Given the description of an element on the screen output the (x, y) to click on. 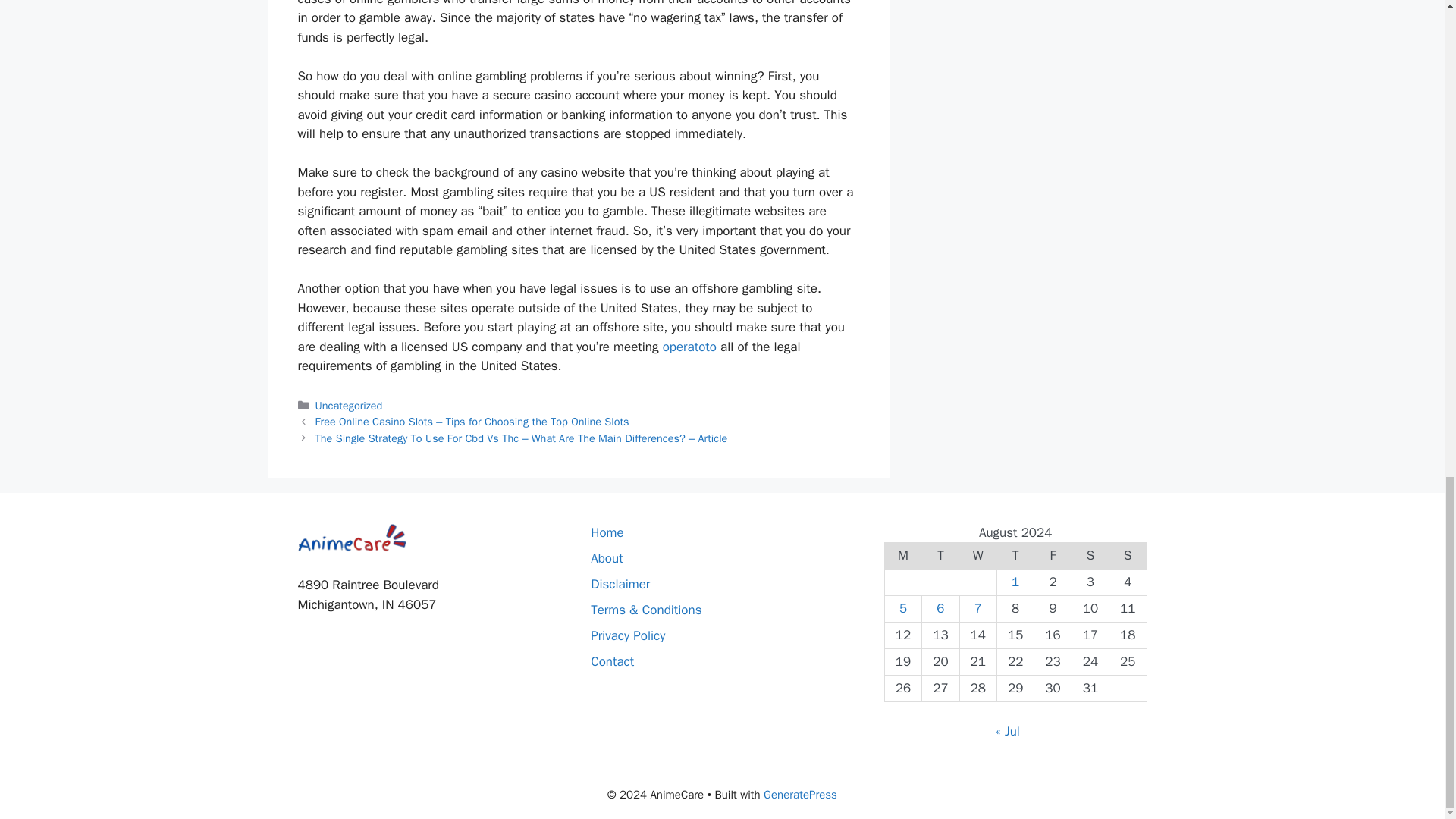
Disclaimer (620, 584)
Sunday (1128, 555)
Tuesday (940, 555)
GeneratePress (799, 794)
Friday (1052, 555)
About (607, 558)
Privacy Policy (628, 635)
Monday (902, 555)
Contact (612, 661)
operatoto (689, 346)
